Given the description of an element on the screen output the (x, y) to click on. 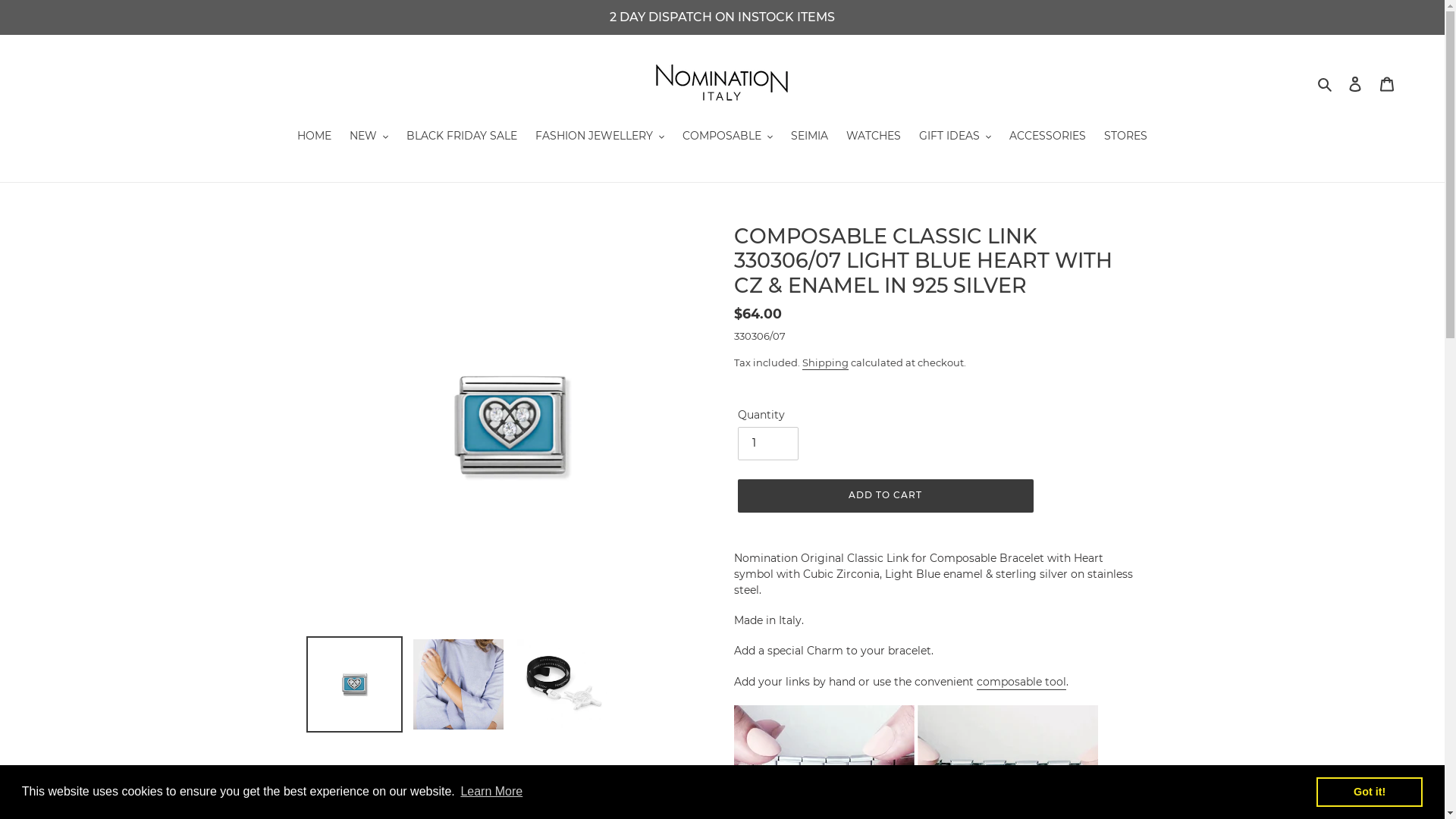
HOME Element type: text (313, 137)
Log in Element type: text (1355, 82)
Got it! Element type: text (1369, 791)
ADD TO CART Element type: text (884, 495)
Search Element type: text (1325, 82)
Learn More Element type: text (491, 791)
FASHION JEWELLERY Element type: text (599, 137)
composable tool Element type: text (1021, 682)
ACCESSORIES Element type: text (1047, 137)
Cart Element type: text (1386, 82)
WATCHES Element type: text (873, 137)
BLACK FRIDAY SALE Element type: text (461, 137)
COMPOSABLE Element type: text (727, 137)
Shipping Element type: text (825, 363)
STORES Element type: text (1125, 137)
2 DAY DISPATCH ON INSTOCK ITEMS Element type: text (722, 17)
NEW Element type: text (368, 137)
GIFT IDEAS Element type: text (954, 137)
SEIMIA Element type: text (809, 137)
